Given the description of an element on the screen output the (x, y) to click on. 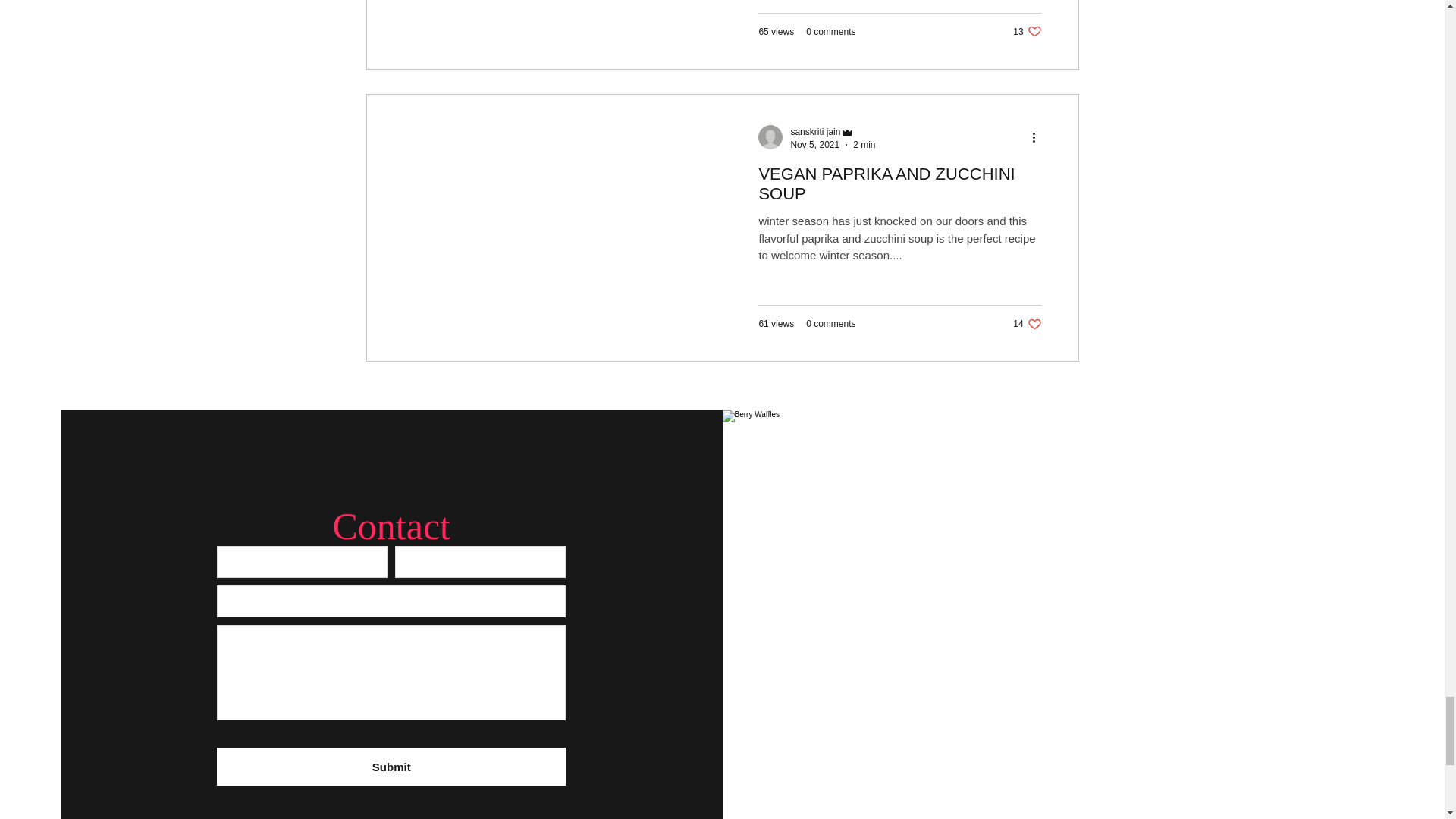
0 comments (831, 323)
sanskriti jain (815, 131)
VEGAN PAPRIKA AND ZUCCHINI SOUP (1027, 31)
2 min (899, 187)
0 comments (1027, 323)
sanskriti jain (864, 144)
Nov 5, 2021 (831, 31)
